Given the description of an element on the screen output the (x, y) to click on. 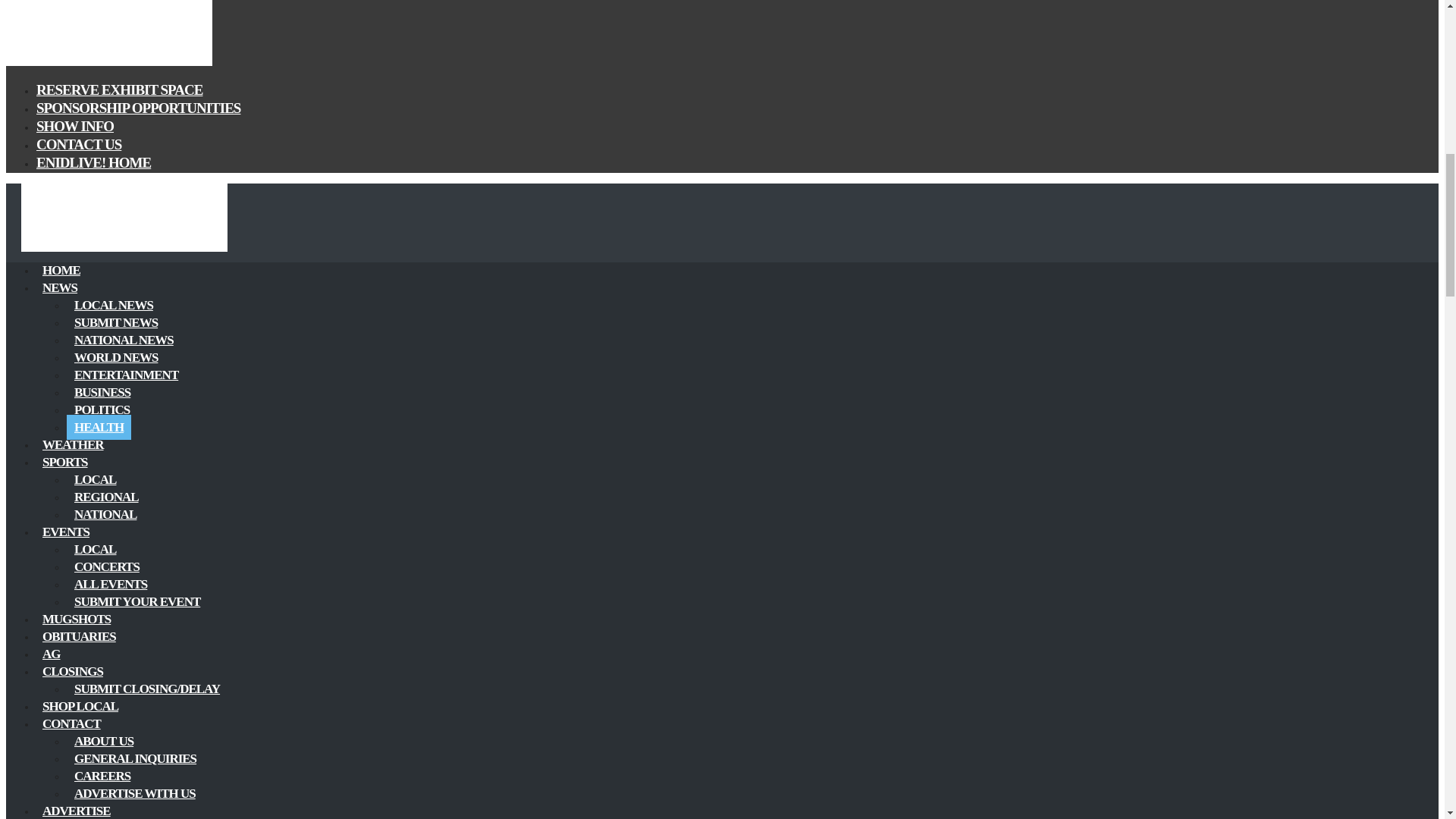
EnidLIVE! (108, 61)
